Given the description of an element on the screen output the (x, y) to click on. 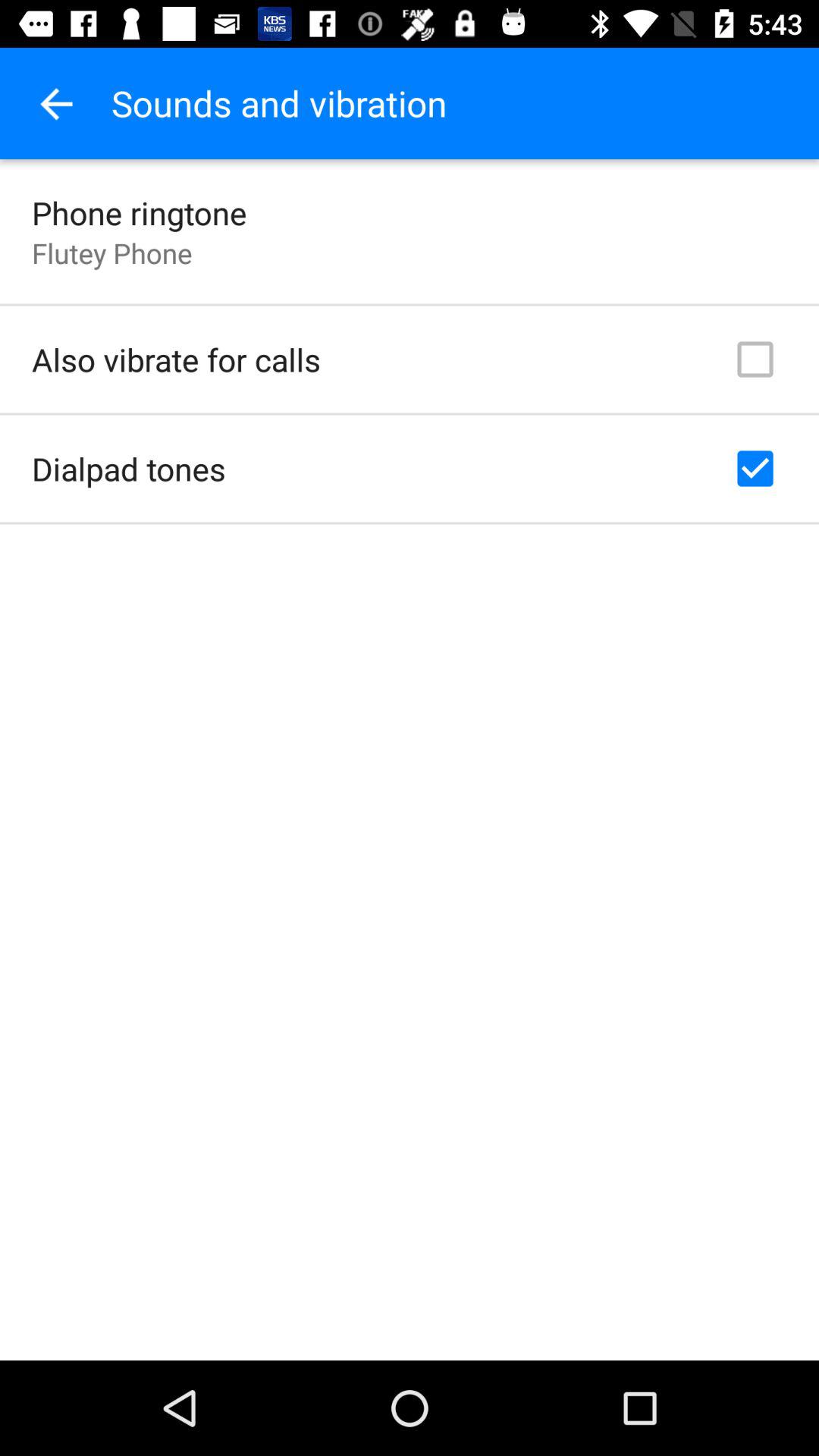
flip until the also vibrate for item (175, 359)
